Given the description of an element on the screen output the (x, y) to click on. 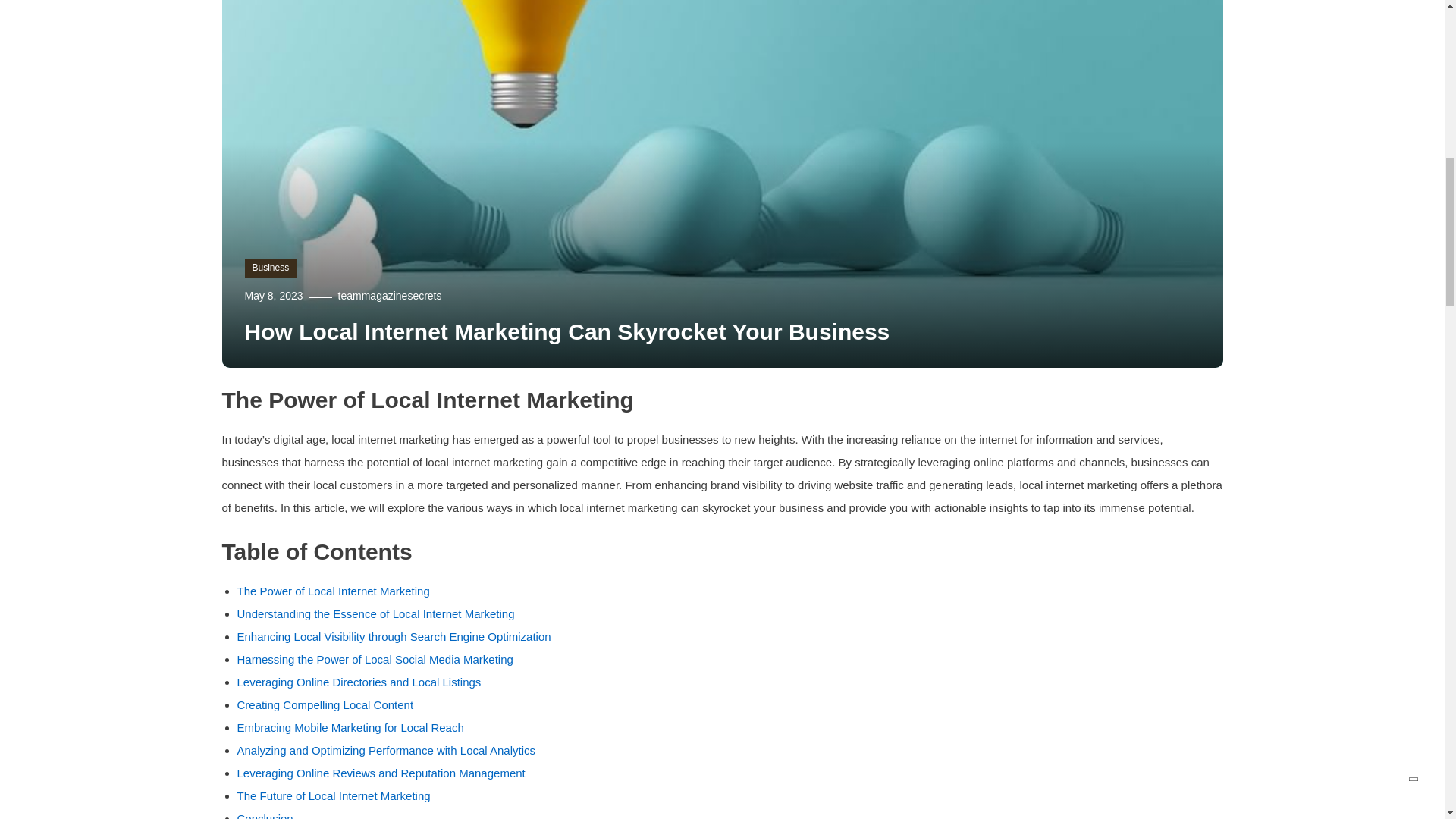
Business (270, 268)
Understanding the Essence of Local Internet Marketing  (375, 613)
Leveraging Online Directories and Local Listings  (359, 681)
Embracing Mobile Marketing for Local Reach  (350, 727)
Harnessing the Power of Local Social Media Marketing  (375, 658)
teammagazinesecrets (389, 295)
Creating Compelling Local Content  (325, 704)
The Power of Local Internet Marketing  (333, 590)
May 8, 2023 (273, 295)
